Given the description of an element on the screen output the (x, y) to click on. 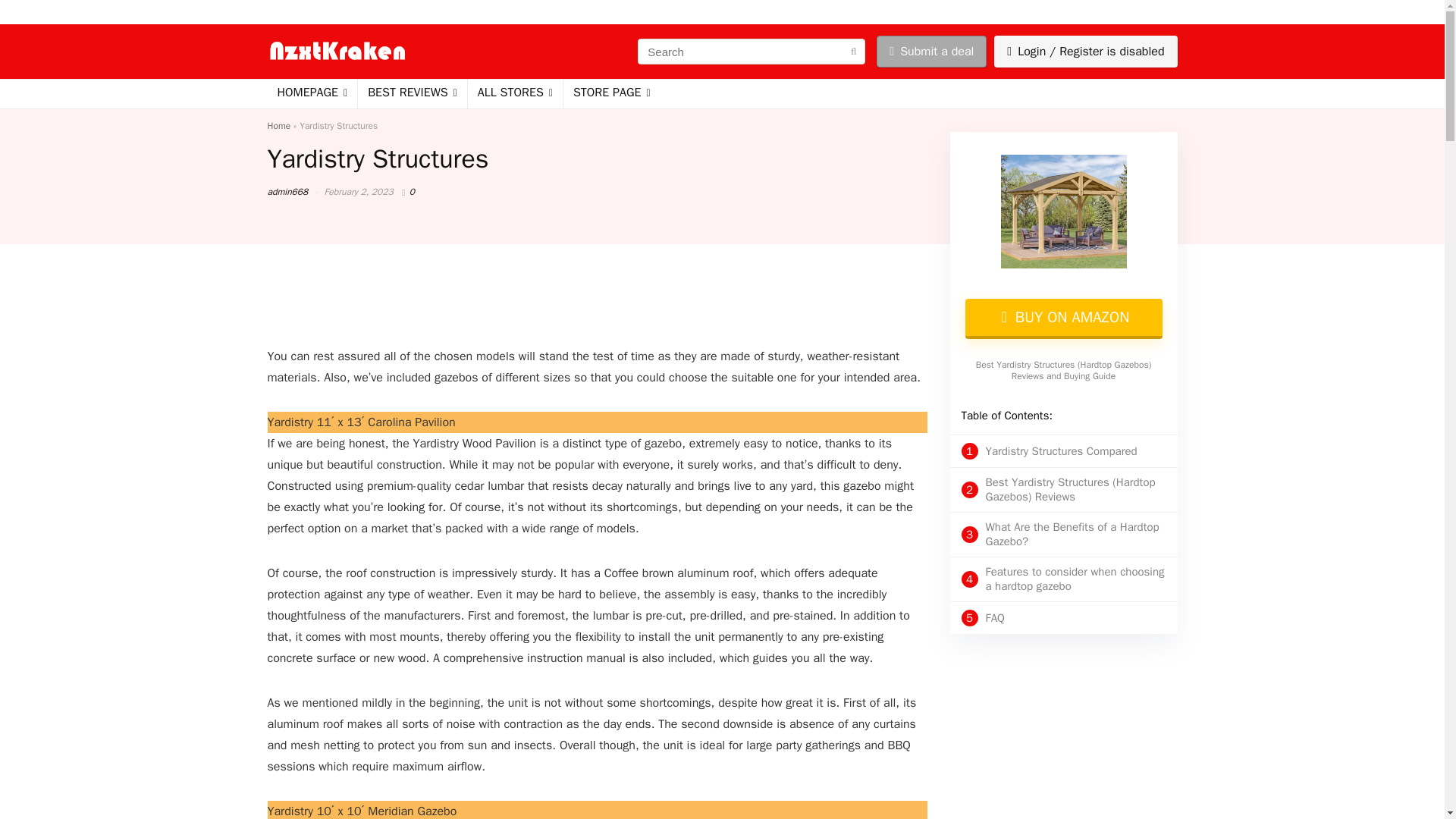
ALL STORES (514, 93)
HOMEPAGE (311, 93)
Submit a deal (931, 51)
STORE PAGE (612, 93)
BEST REVIEWS (412, 93)
